Given the description of an element on the screen output the (x, y) to click on. 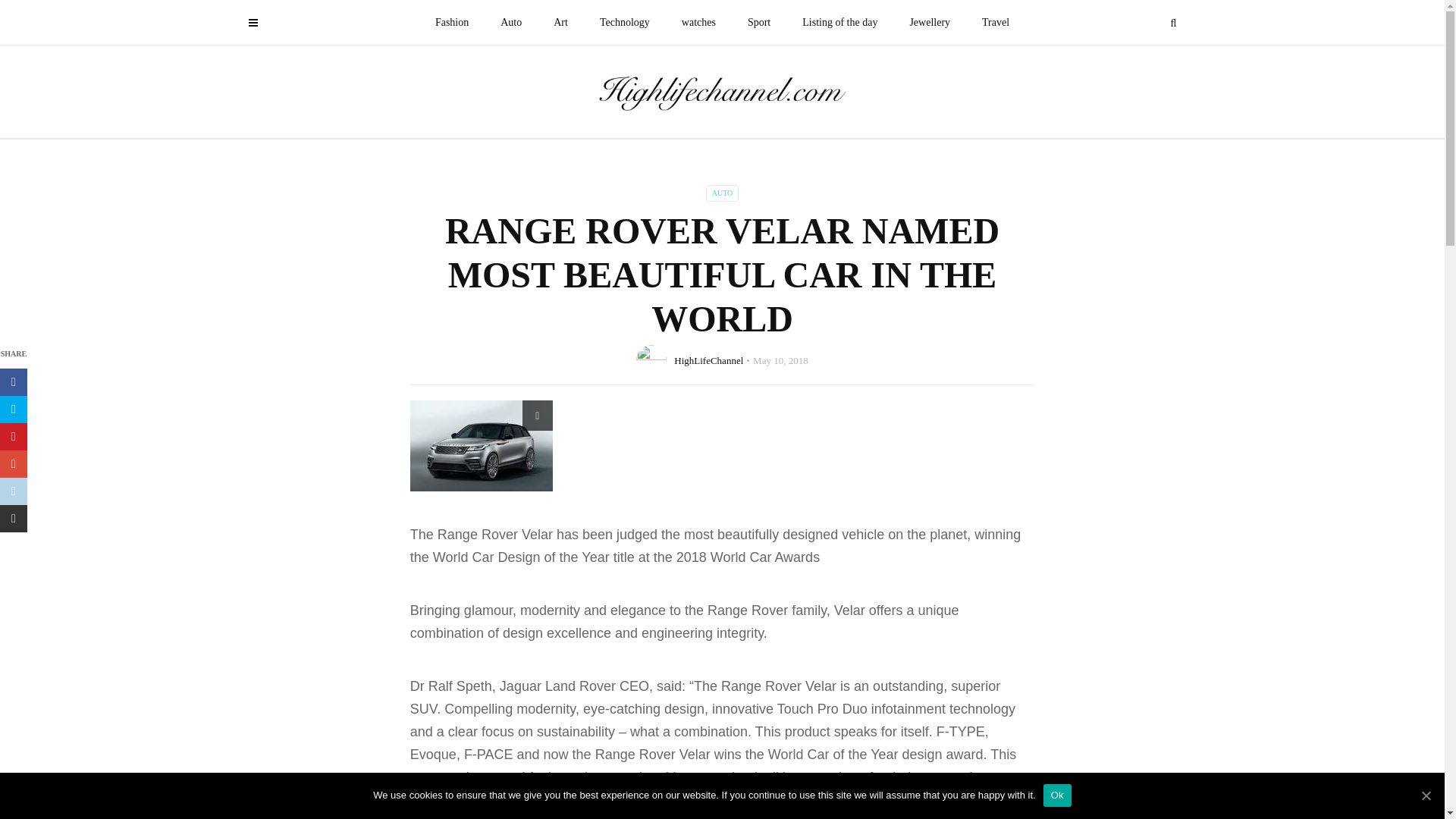
HighLifeChannel (708, 360)
Jewellery (929, 22)
Art (560, 22)
AUTO (722, 193)
Technology (624, 22)
Fashion (451, 22)
Travel (995, 22)
watches (698, 22)
Auto (510, 22)
Listing of the day (839, 22)
